Given the description of an element on the screen output the (x, y) to click on. 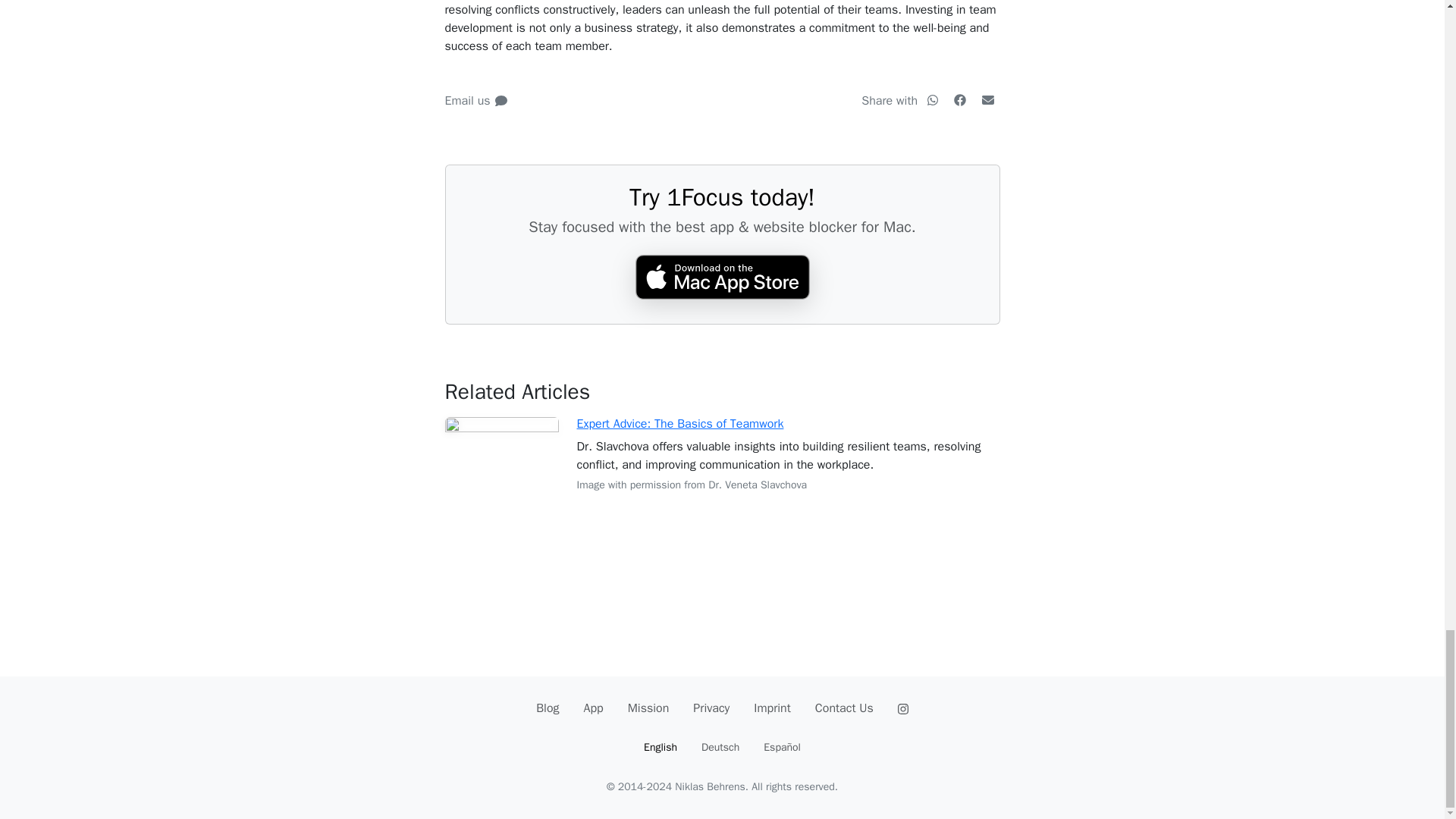
Expert Advice: The Basics of Teamwork (679, 423)
Instagram (902, 708)
Email (986, 100)
Privacy (711, 708)
Facebook (959, 100)
Deutsch (719, 747)
Imprint (772, 708)
App (593, 708)
Email (986, 100)
WhatsApp (934, 100)
